Given the description of an element on the screen output the (x, y) to click on. 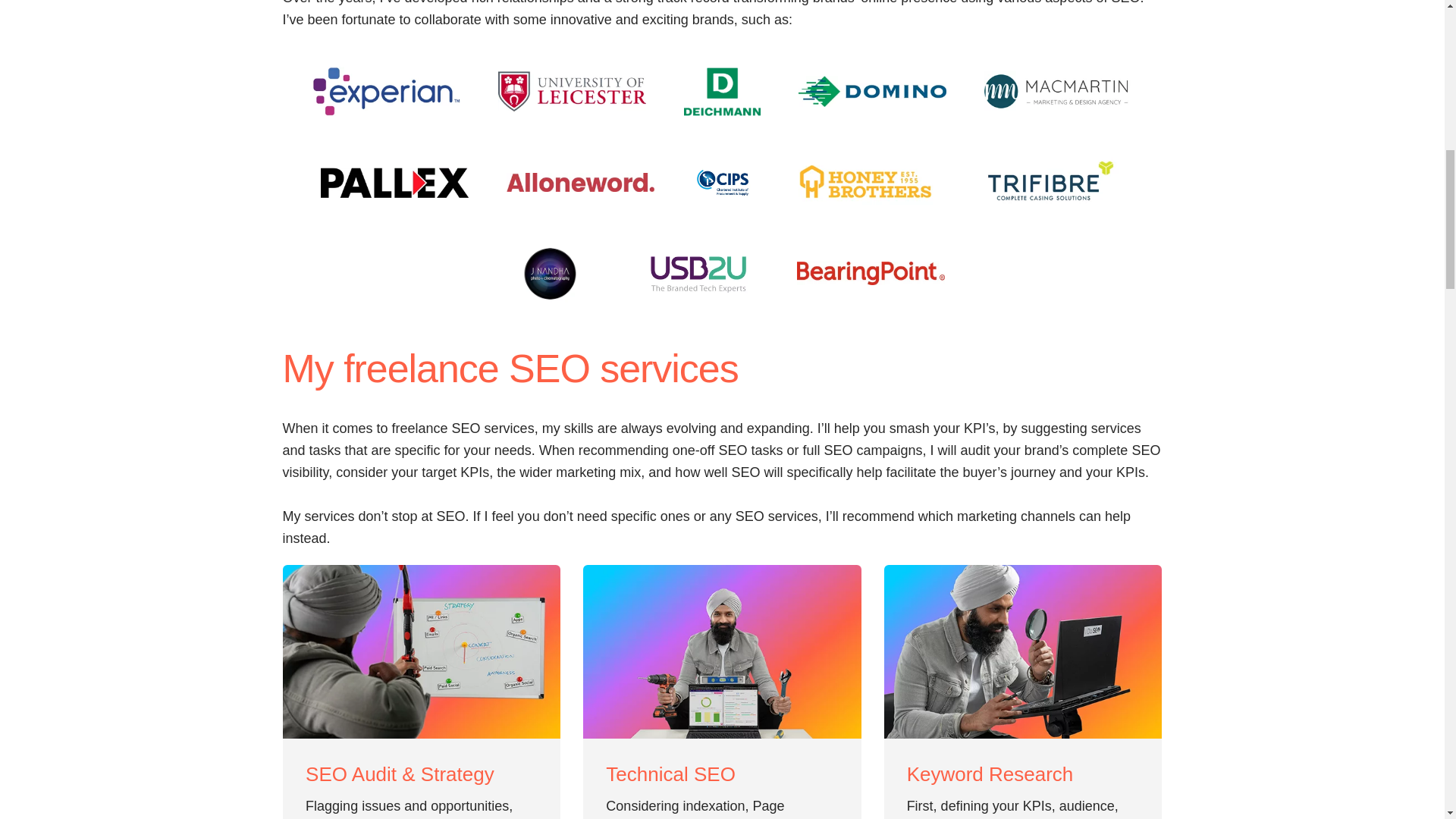
Technical SEO (721, 774)
Keyword Research (1022, 774)
